Given the description of an element on the screen output the (x, y) to click on. 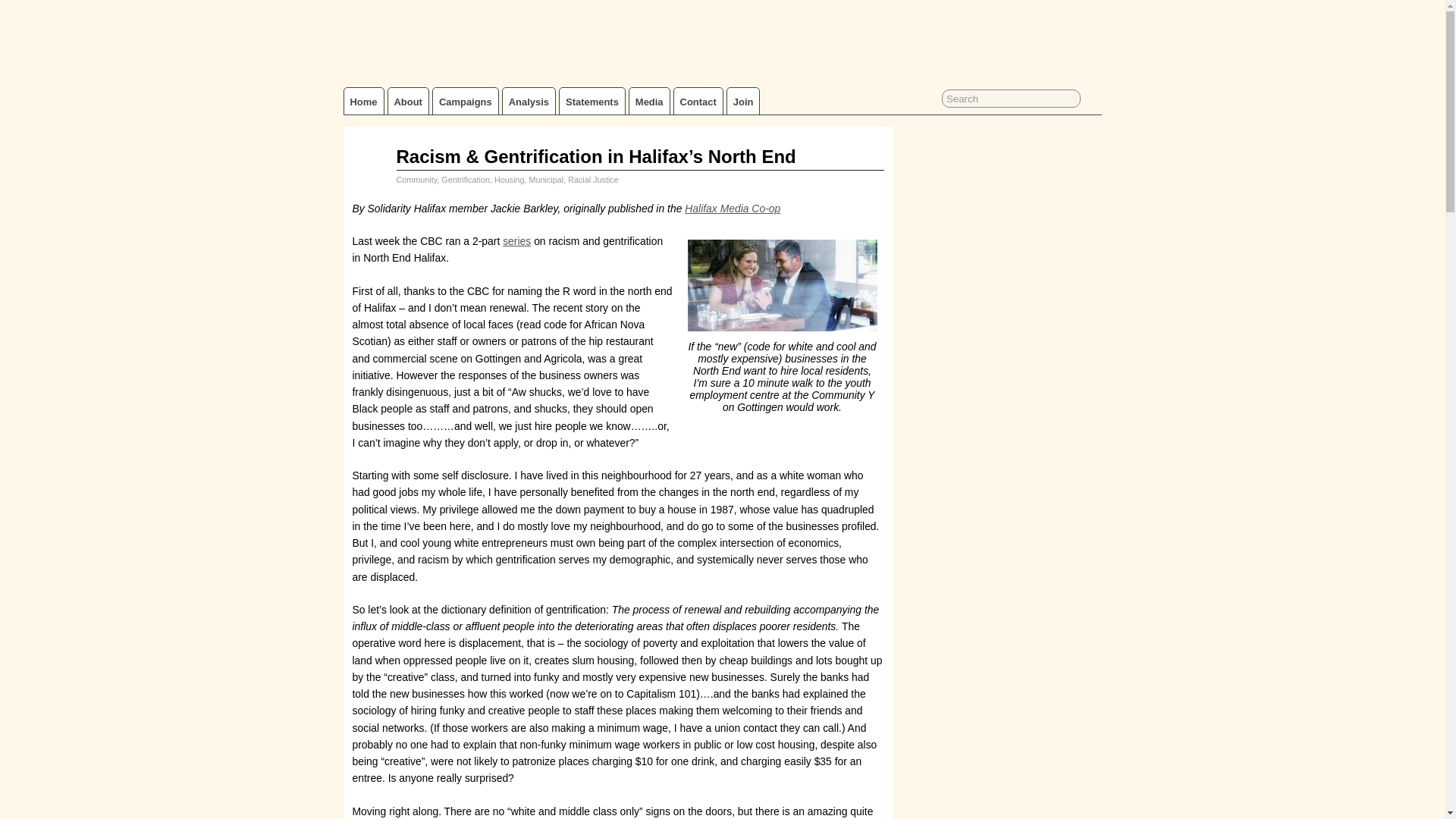
Search (1011, 98)
Solidarity Halifax (404, 69)
Join (743, 100)
Contact (698, 100)
About (408, 100)
Housing (509, 179)
Home (363, 100)
Campaigns (464, 100)
series (516, 241)
Gentrification (465, 179)
